Given the description of an element on the screen output the (x, y) to click on. 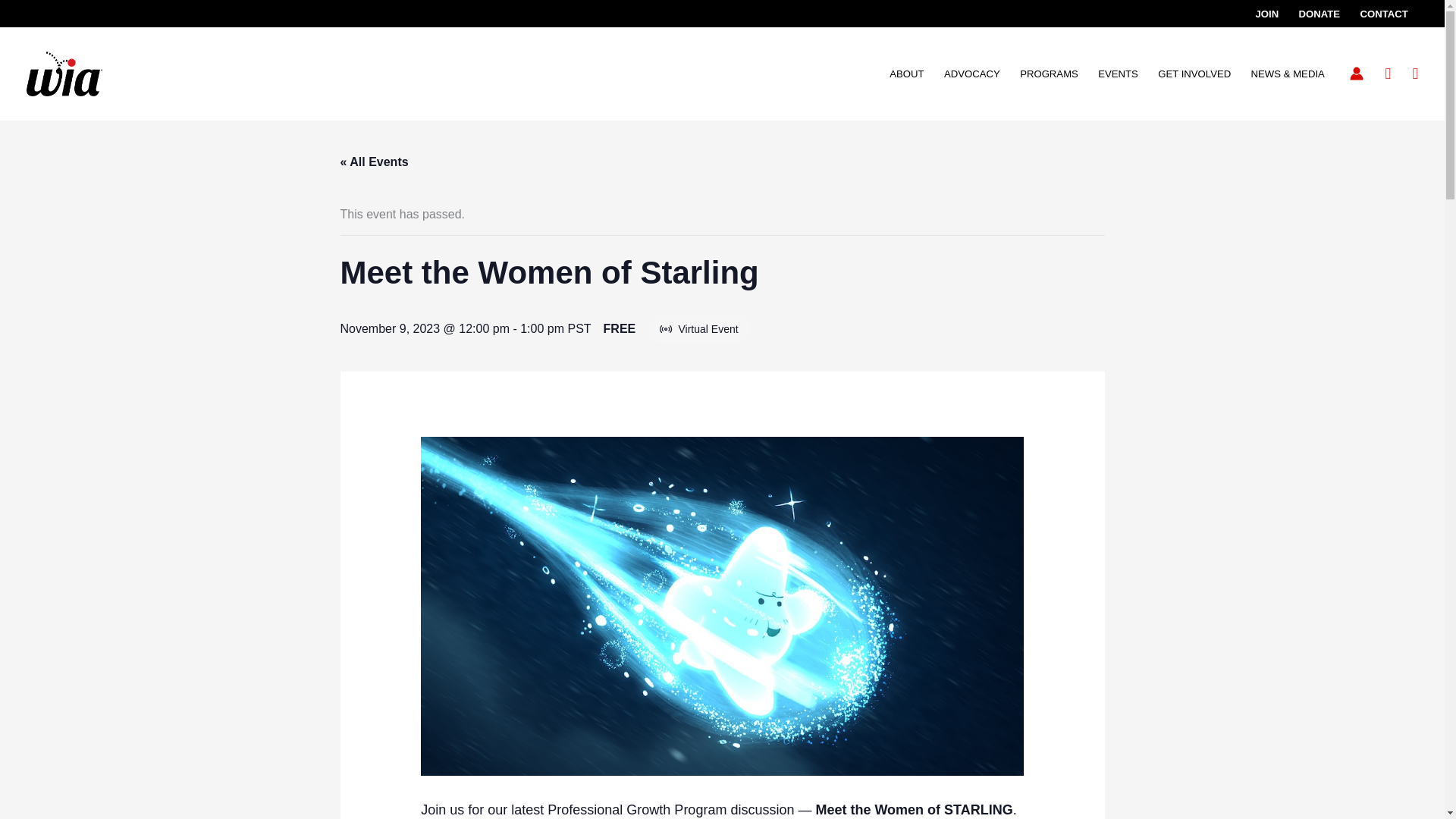
Virtual Event (665, 328)
DONATE (1318, 13)
CONTACT (1383, 13)
PROGRAMS (1048, 74)
ADVOCACY (972, 74)
Virtual Event (667, 328)
JOIN (1266, 13)
ABOUT (906, 74)
